Given the description of an element on the screen output the (x, y) to click on. 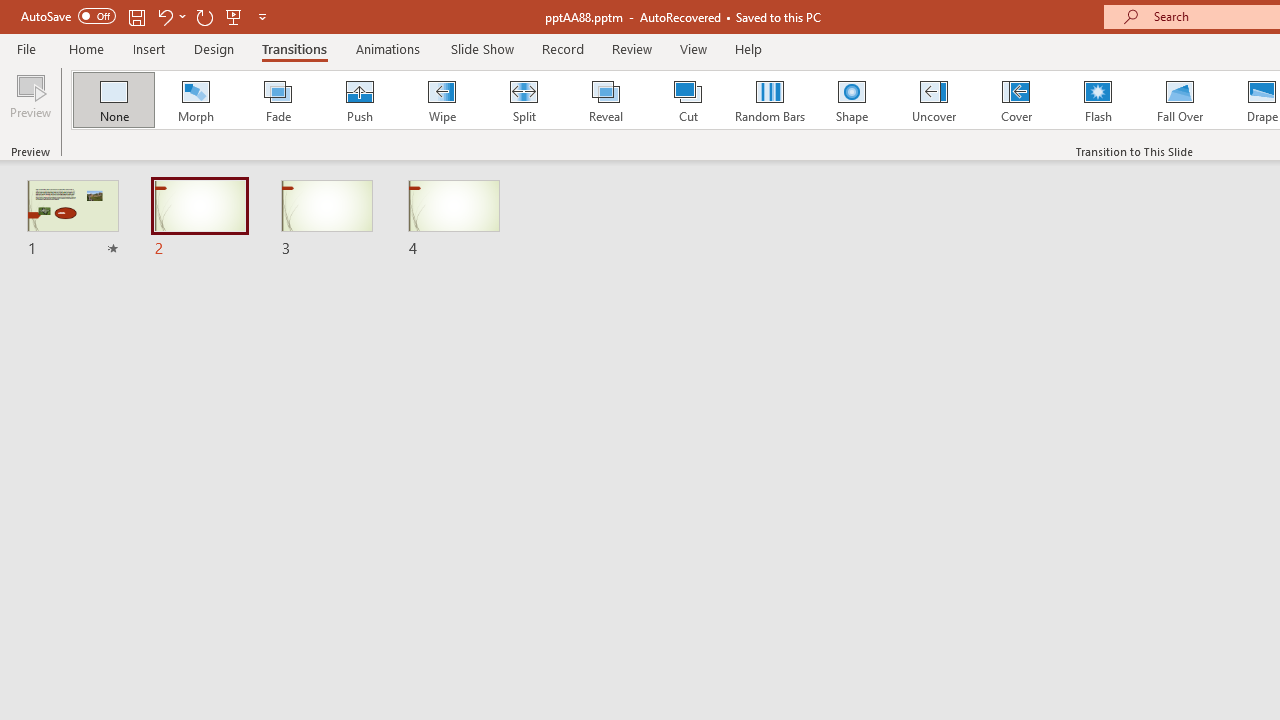
Cut (687, 100)
Preview (30, 102)
Uncover (934, 100)
Flash (1098, 100)
Shape (852, 100)
Fall Over (1180, 100)
